Given the description of an element on the screen output the (x, y) to click on. 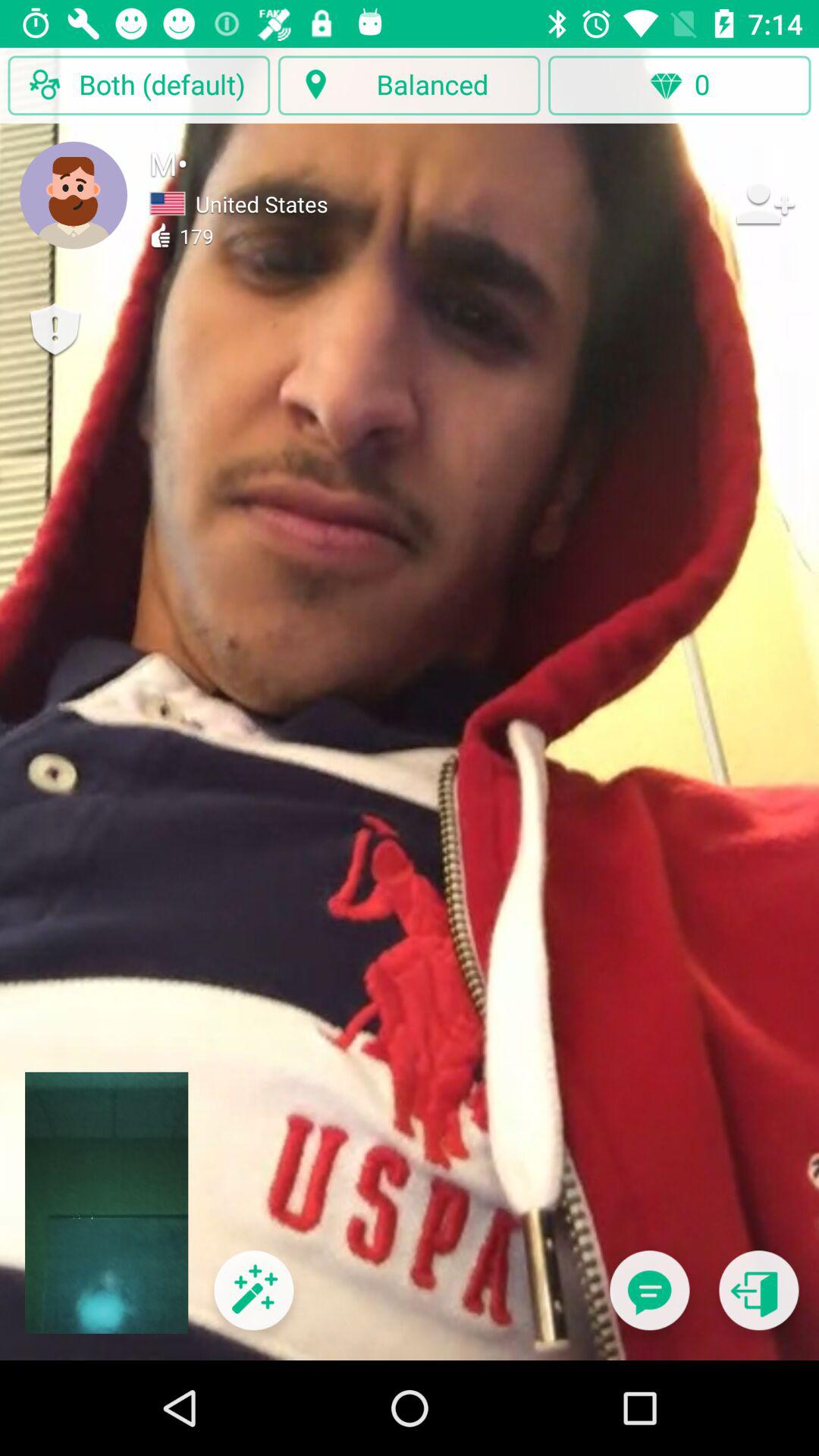
edit (253, 1300)
